Given the description of an element on the screen output the (x, y) to click on. 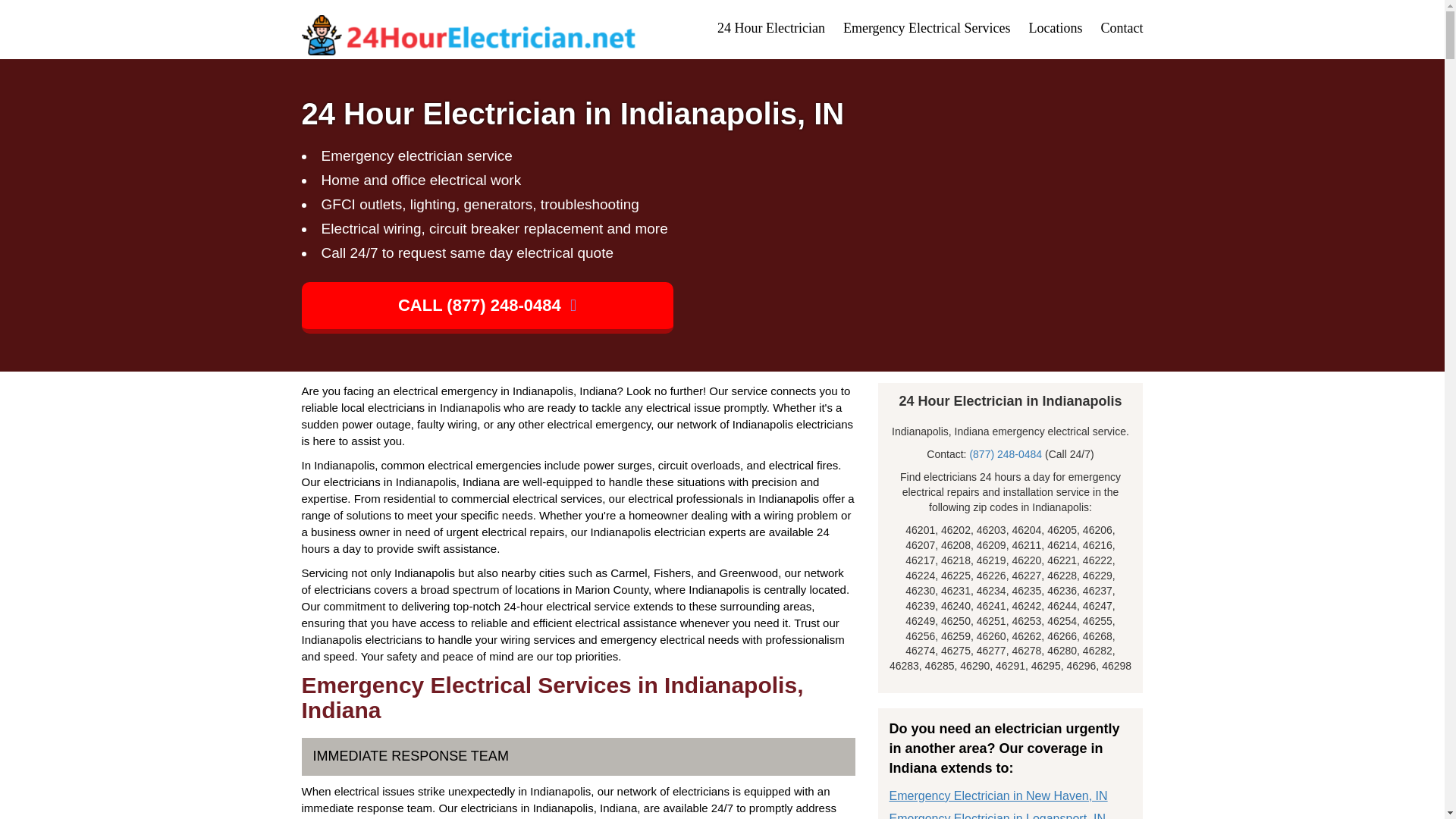
24 Hour Electrician in Logansport, IN (996, 815)
Emergency Electrician in New Haven, IN (997, 795)
Contact Us (1121, 28)
Our Electrician Locations (1054, 28)
24 Hour Electrician (771, 28)
Contact (1121, 28)
24 Hour Electrician Near Me (771, 28)
Locations (1054, 28)
Emergency Electrical Services Near Me (926, 28)
24 Hour Electrician in New Haven, IN (997, 795)
Emergency Electrical Services (926, 28)
Emergency Electrician in Logansport, IN (996, 815)
